Given the description of an element on the screen output the (x, y) to click on. 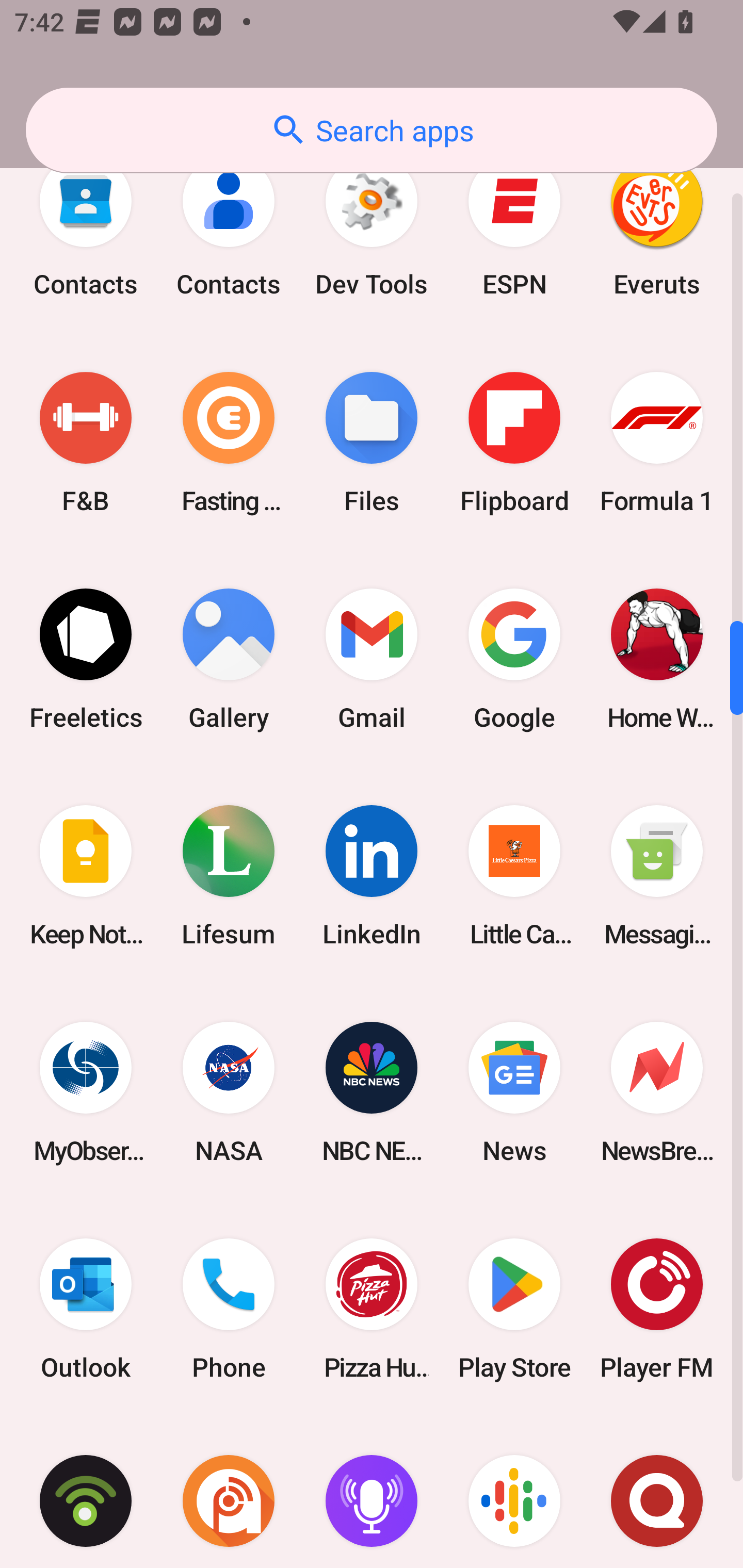
  Search apps (371, 130)
Contacts (85, 225)
Contacts (228, 225)
Dev Tools (371, 225)
ESPN (514, 225)
Everuts (656, 225)
F&B (85, 441)
Fasting Coach (228, 441)
Files (371, 441)
Flipboard (514, 441)
Formula 1 (656, 441)
Freeletics (85, 658)
Gallery (228, 658)
Gmail (371, 658)
Google (514, 658)
Home Workout (656, 658)
Keep Notes (85, 875)
Lifesum (228, 875)
LinkedIn (371, 875)
Little Caesars Pizza (514, 875)
Messaging (656, 875)
MyObservatory (85, 1092)
NASA (228, 1092)
NBC NEWS (371, 1092)
News (514, 1092)
NewsBreak (656, 1092)
Outlook (85, 1309)
Phone (228, 1309)
Pizza Hut HK & Macau (371, 1309)
Play Store (514, 1309)
Player FM (656, 1309)
Podbean (85, 1492)
Podcast Addict (228, 1492)
Podcast Player (371, 1492)
Podcasts (514, 1492)
Quora (656, 1492)
